Given the description of an element on the screen output the (x, y) to click on. 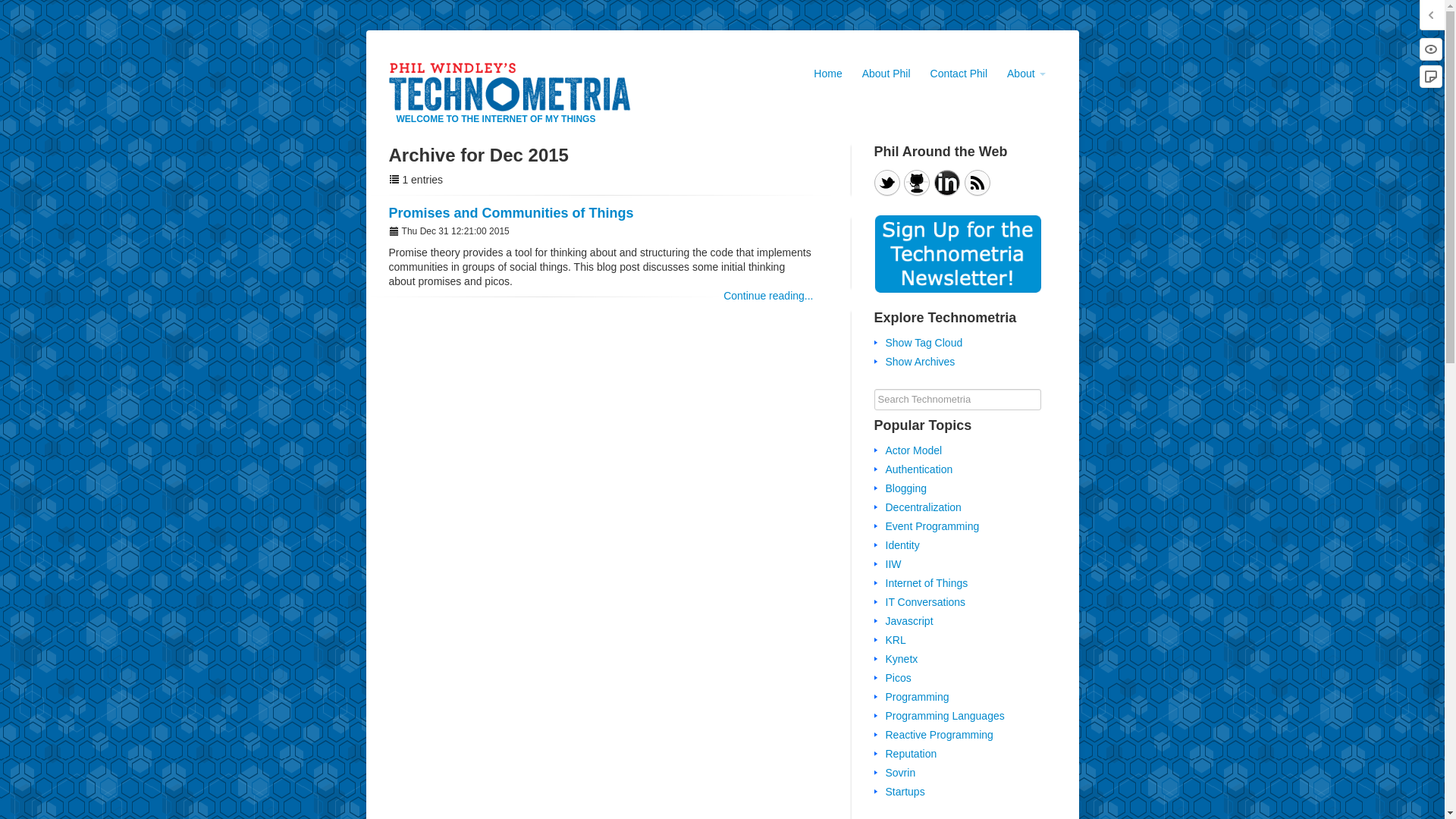
Show Tag Cloud (923, 342)
Contact Phil (958, 73)
Continue reading... (767, 296)
Promises and Communities of Things (510, 212)
Twitter (886, 182)
About (1025, 73)
RSS (976, 182)
Home (827, 73)
LinkedIn (946, 182)
Github (917, 182)
About Phil (886, 73)
Show Archives (920, 361)
